Given the description of an element on the screen output the (x, y) to click on. 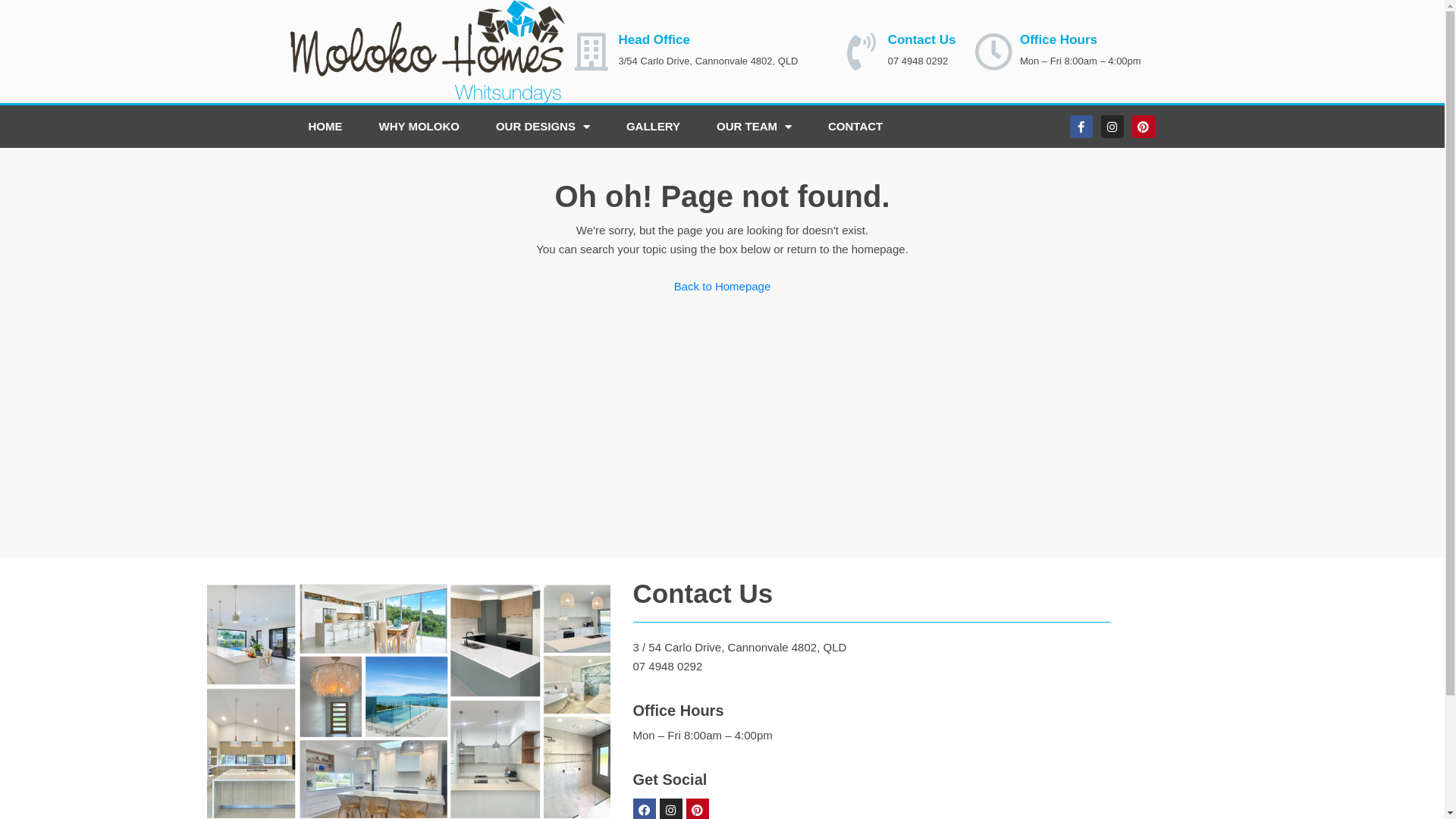
Back to Homepage Element type: text (722, 286)
OUR DESIGNS Element type: text (542, 126)
HOME Element type: text (324, 126)
GALLERY Element type: text (653, 126)
WHY MOLOKO Element type: text (418, 126)
CONTACT Element type: text (854, 126)
OUR TEAM Element type: text (753, 126)
